Given the description of an element on the screen output the (x, y) to click on. 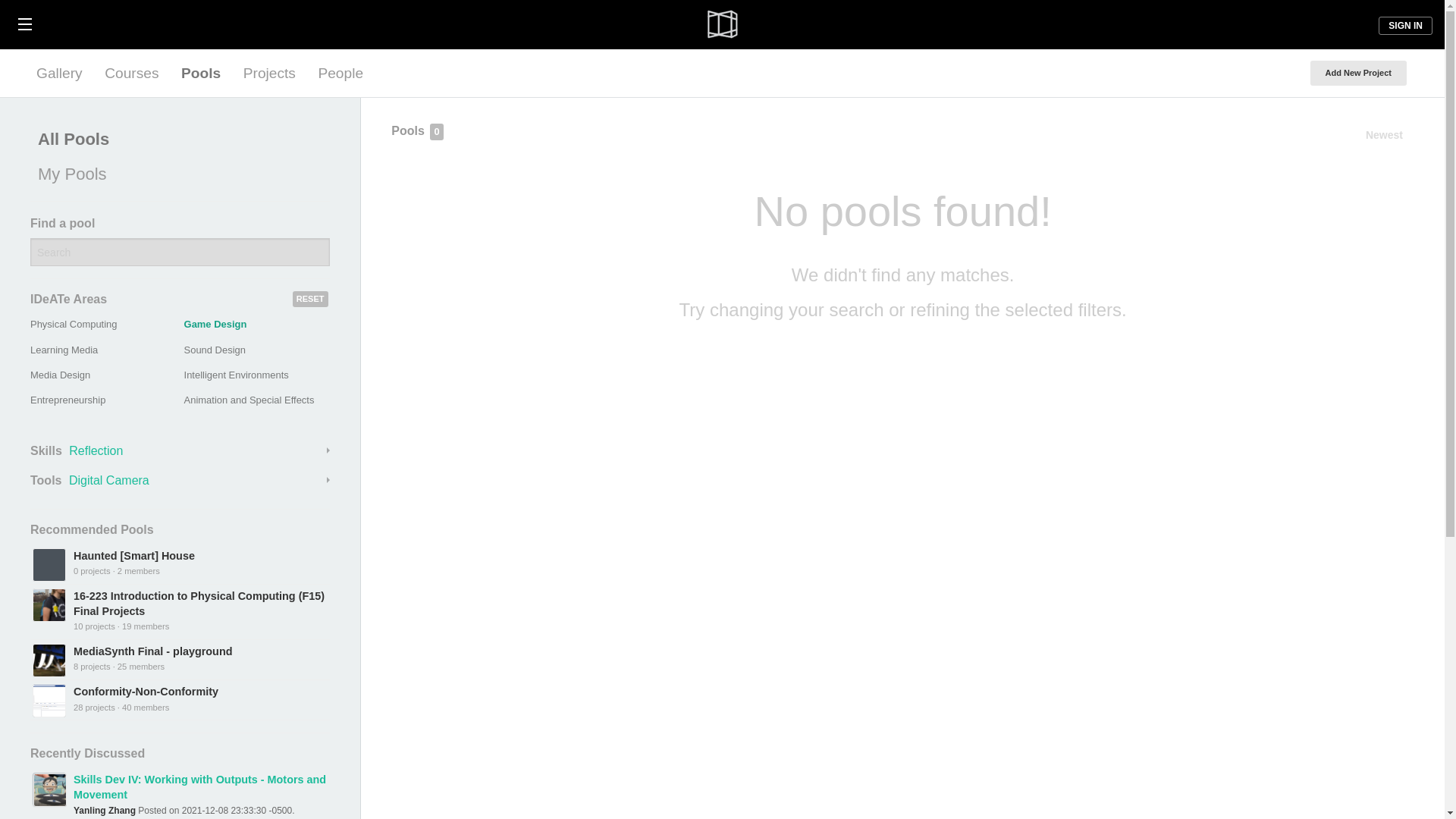
Learning Media (63, 349)
All Pools (175, 139)
Projects (268, 73)
People (340, 73)
Game Design (215, 324)
Pools (200, 73)
Animation and Special Effects (249, 399)
RESET (310, 299)
My Pools (175, 174)
Media Design (60, 374)
